Given the description of an element on the screen output the (x, y) to click on. 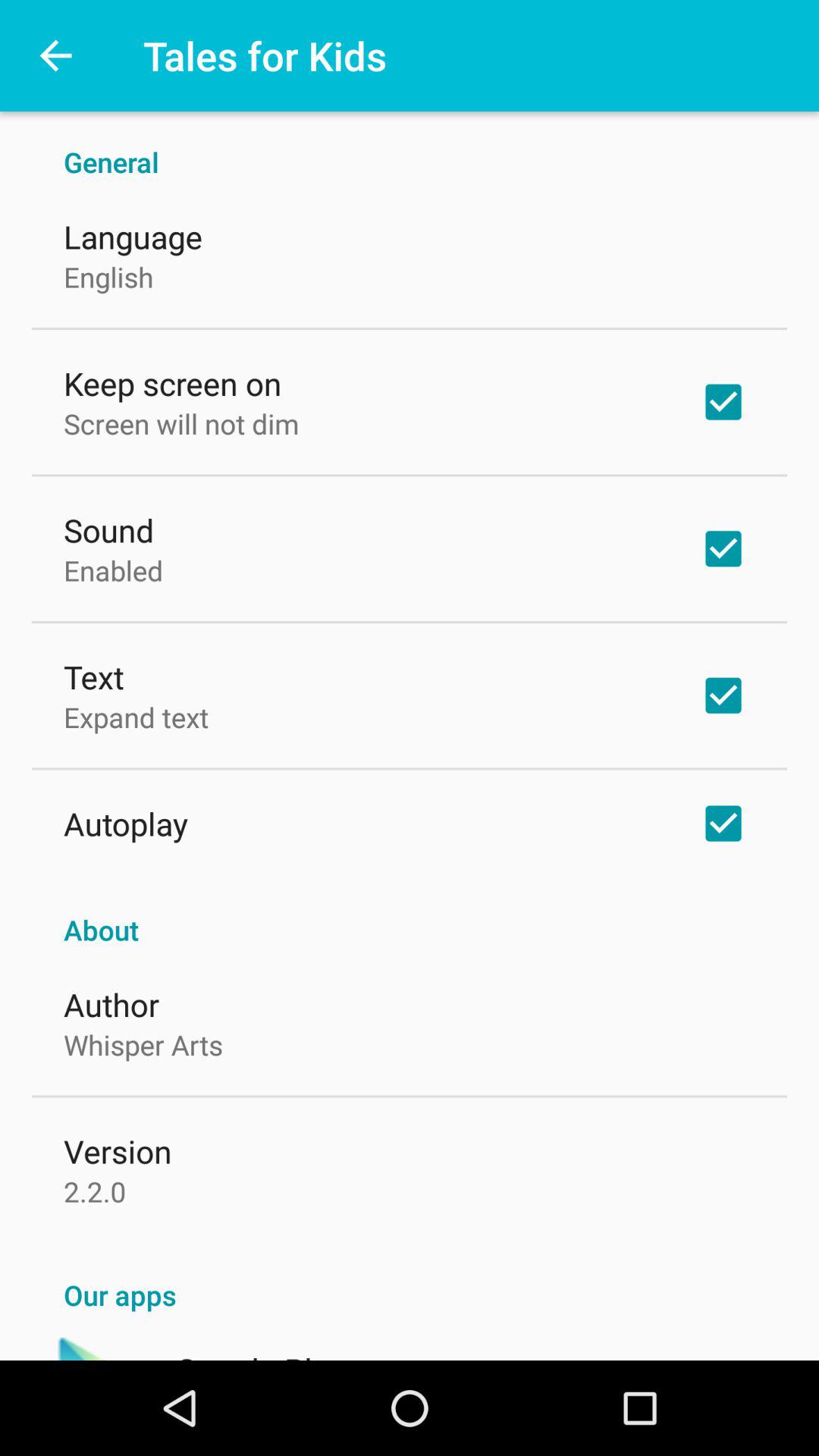
tap the general at the top (409, 145)
